Given the description of an element on the screen output the (x, y) to click on. 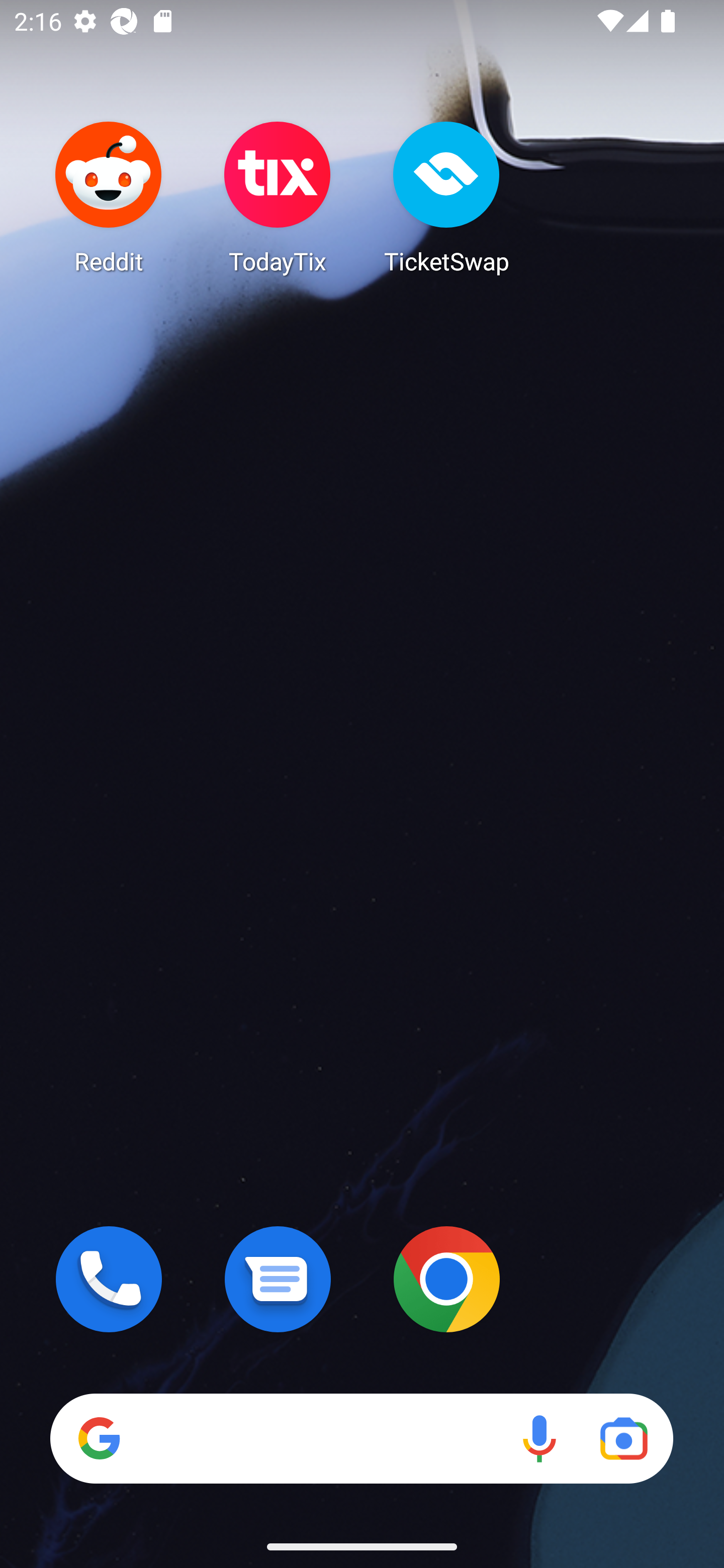
Reddit (108, 196)
TodayTix (277, 196)
TicketSwap (445, 196)
Phone (108, 1279)
Messages (277, 1279)
Chrome (446, 1279)
Voice search (539, 1438)
Google Lens (623, 1438)
